Given the description of an element on the screen output the (x, y) to click on. 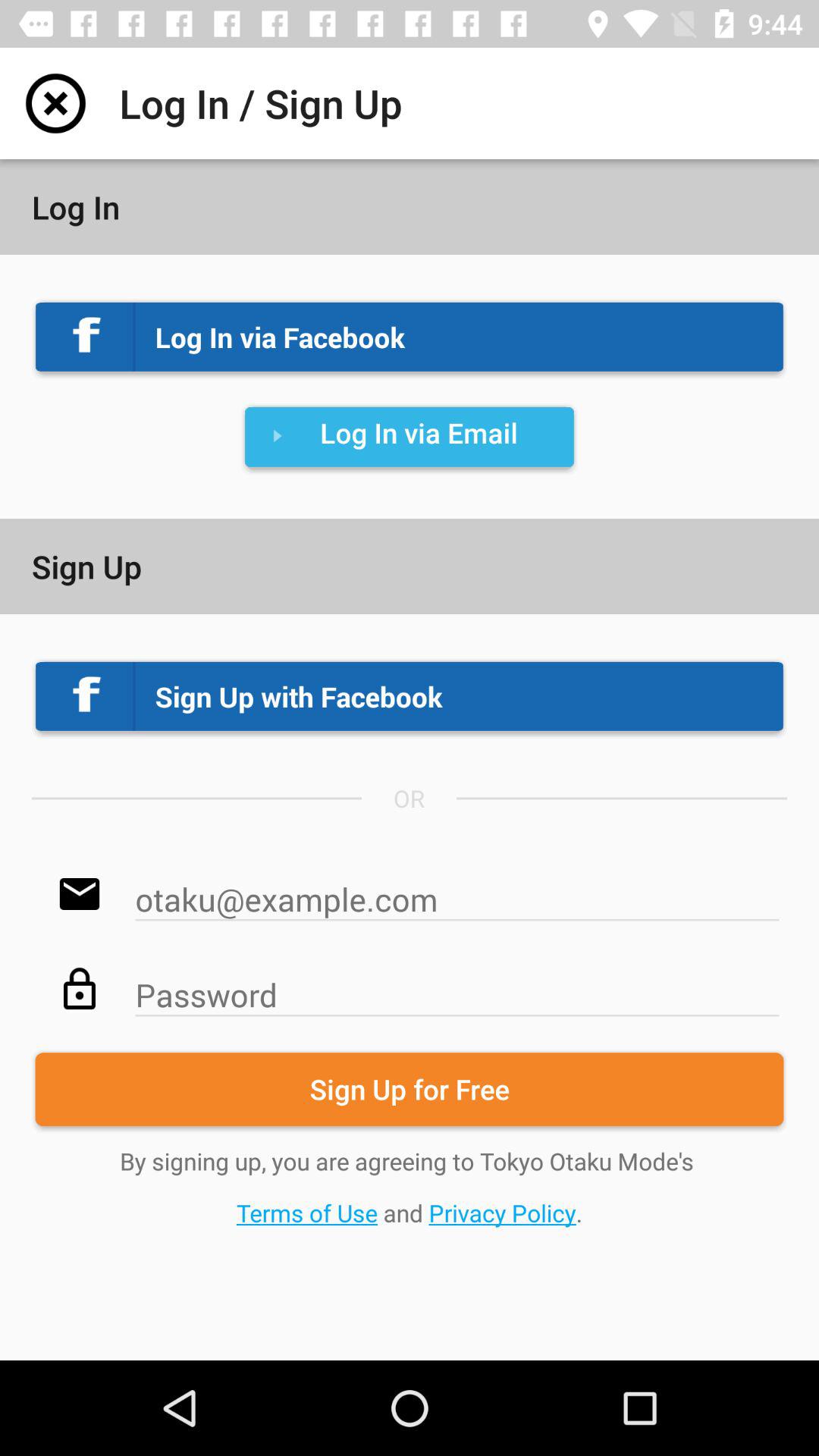
choose the icon above the log in item (55, 103)
